Given the description of an element on the screen output the (x, y) to click on. 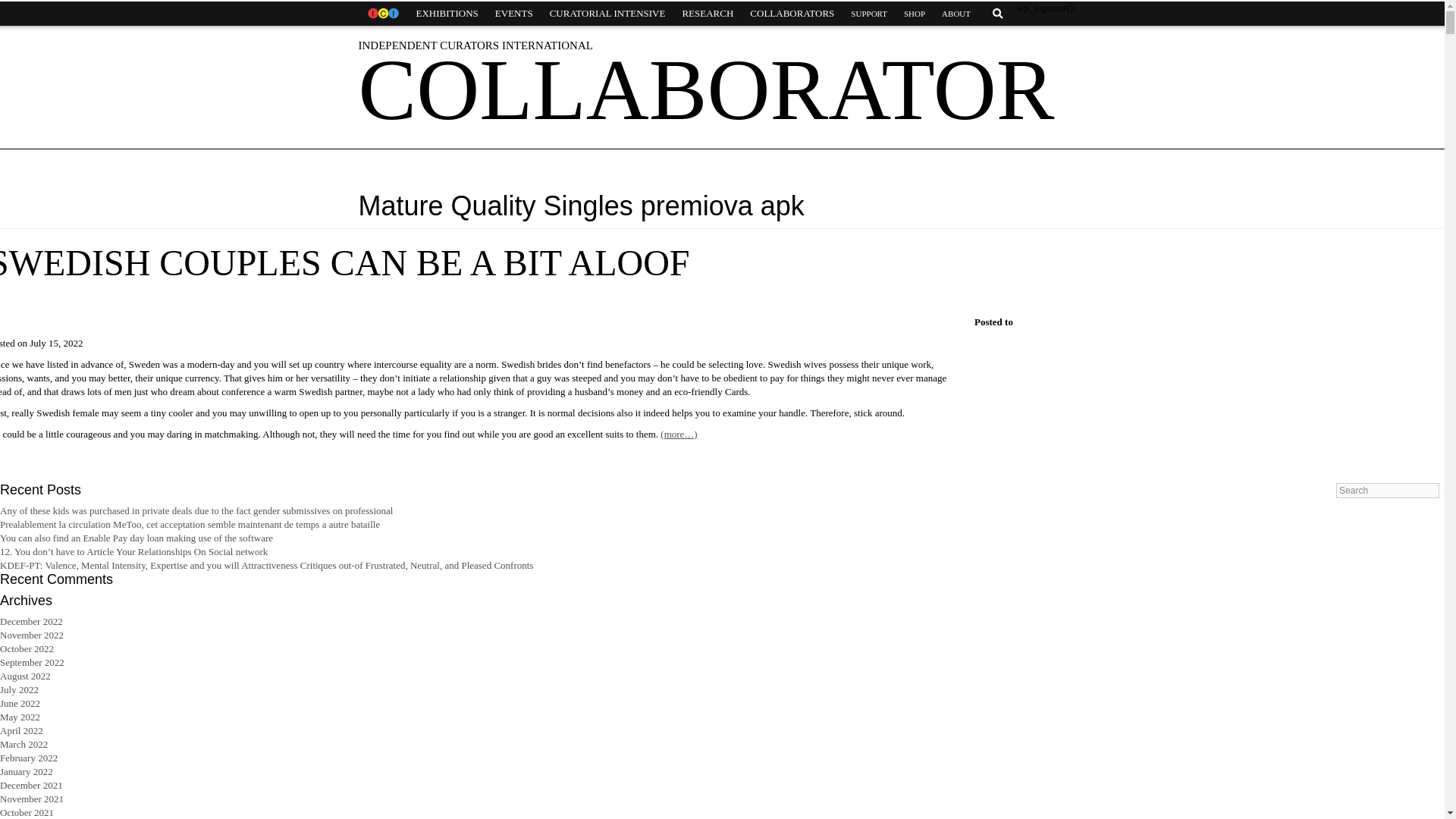
EXHIBITIONS (446, 13)
HOME (382, 13)
CURATORIAL INTENSIVE (607, 13)
COLLABORATORS (792, 13)
RESEARCH (706, 13)
EVENTS (513, 13)
